Given the description of an element on the screen output the (x, y) to click on. 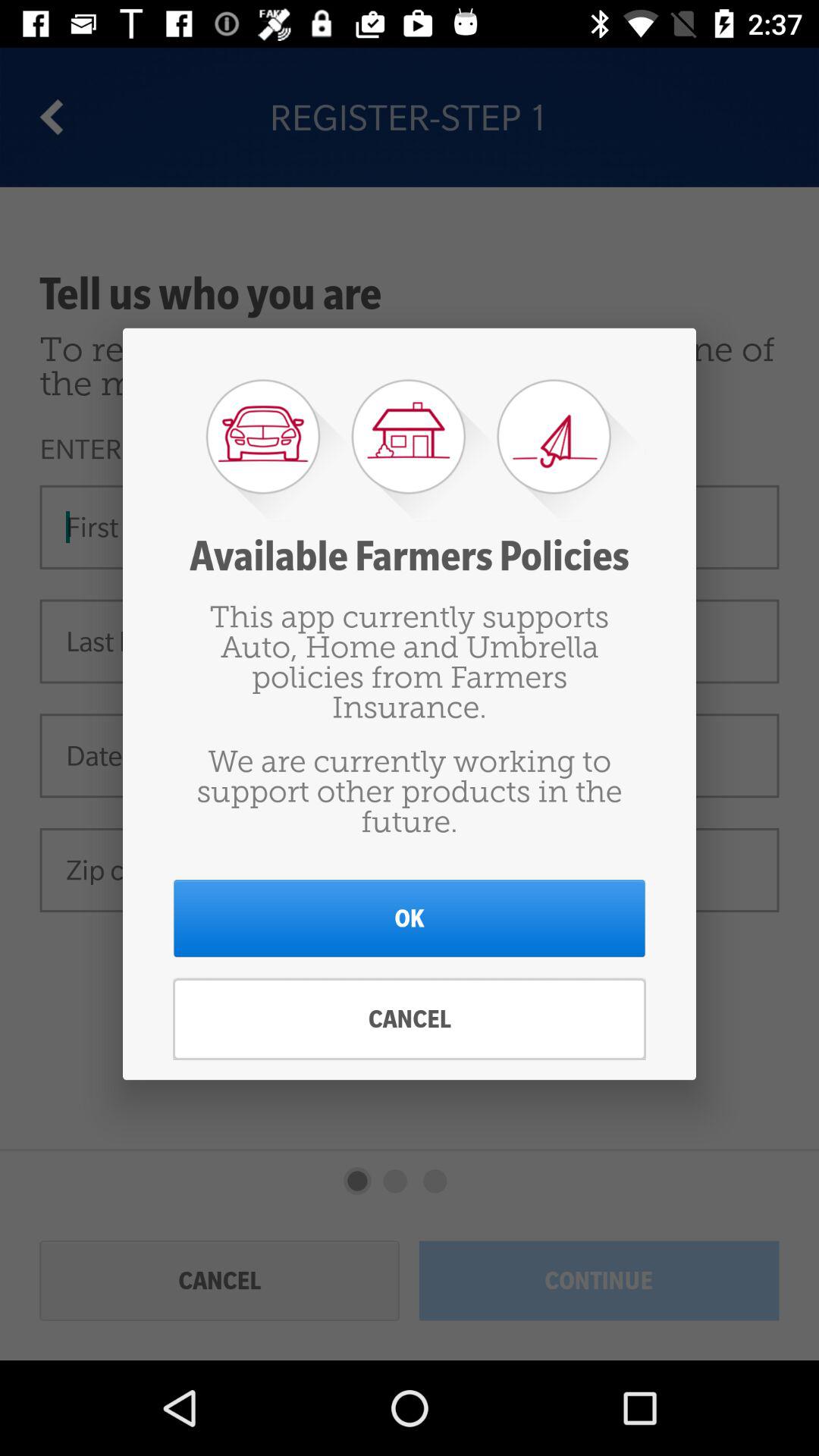
launch ok (409, 918)
